Given the description of an element on the screen output the (x, y) to click on. 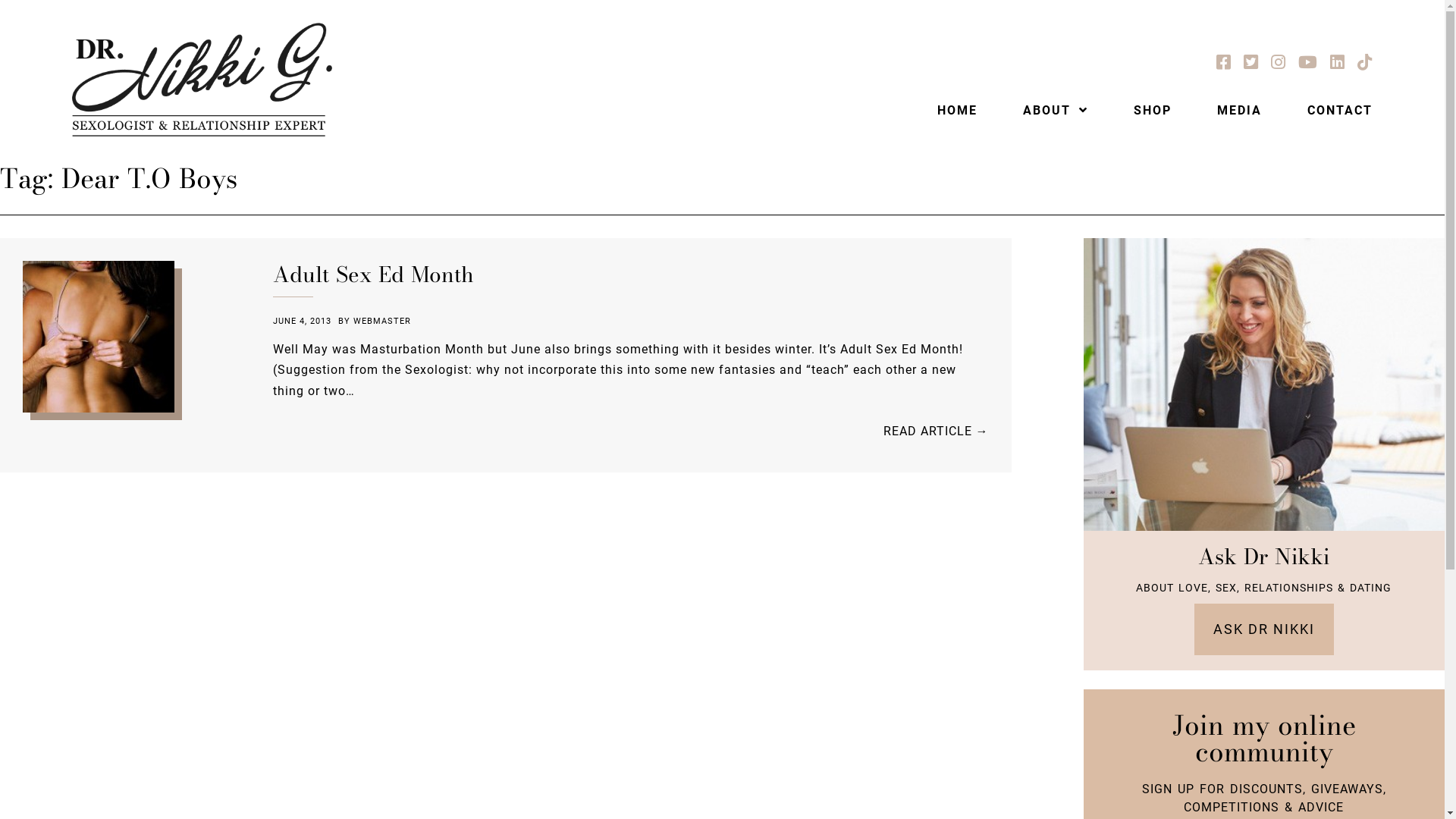
ABOUT Element type: text (1055, 110)
HOME Element type: text (957, 110)
CONTACT Element type: text (1328, 110)
MEDIA Element type: text (1239, 110)
Adult Sex Ed Month Element type: hover (136, 339)
ASK DR NIKKI Element type: text (1263, 628)
SHOP Element type: text (1152, 110)
Adult Sex Ed Month Element type: text (373, 273)
